Given the description of an element on the screen output the (x, y) to click on. 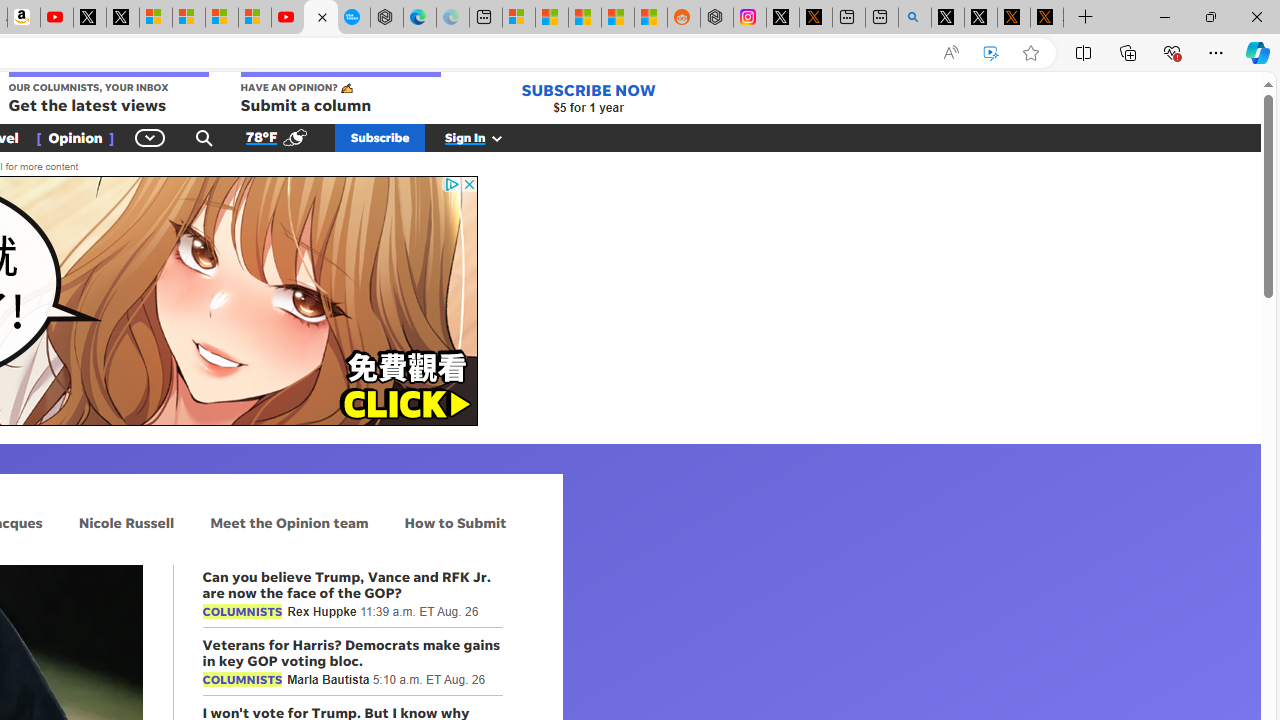
Log in to X / X (782, 17)
How to Submit (455, 521)
Sign In (485, 137)
github - Search (914, 17)
Class: gnt_n_dd_bt_svg (150, 137)
[ Opinion ] (75, 137)
